Given the description of an element on the screen output the (x, y) to click on. 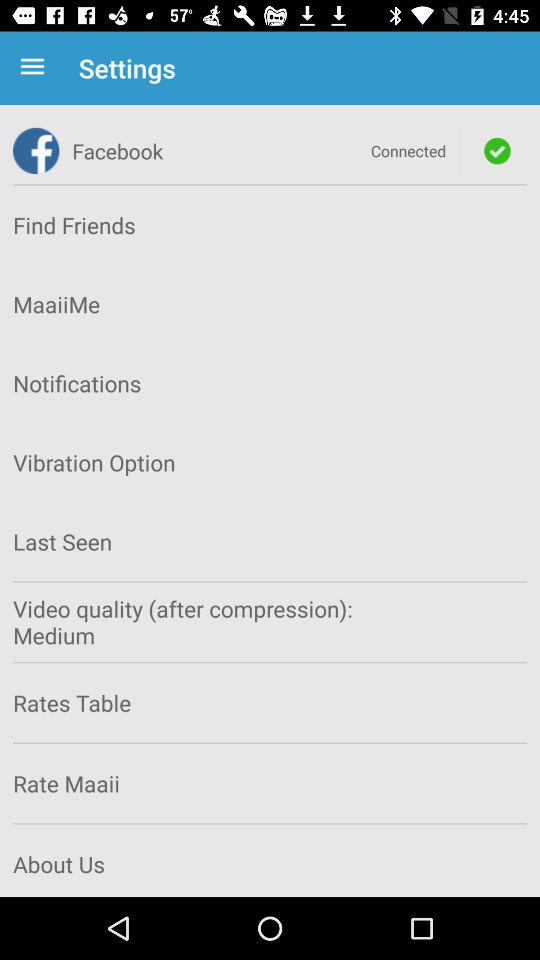
click item next to settings (36, 68)
